Given the description of an element on the screen output the (x, y) to click on. 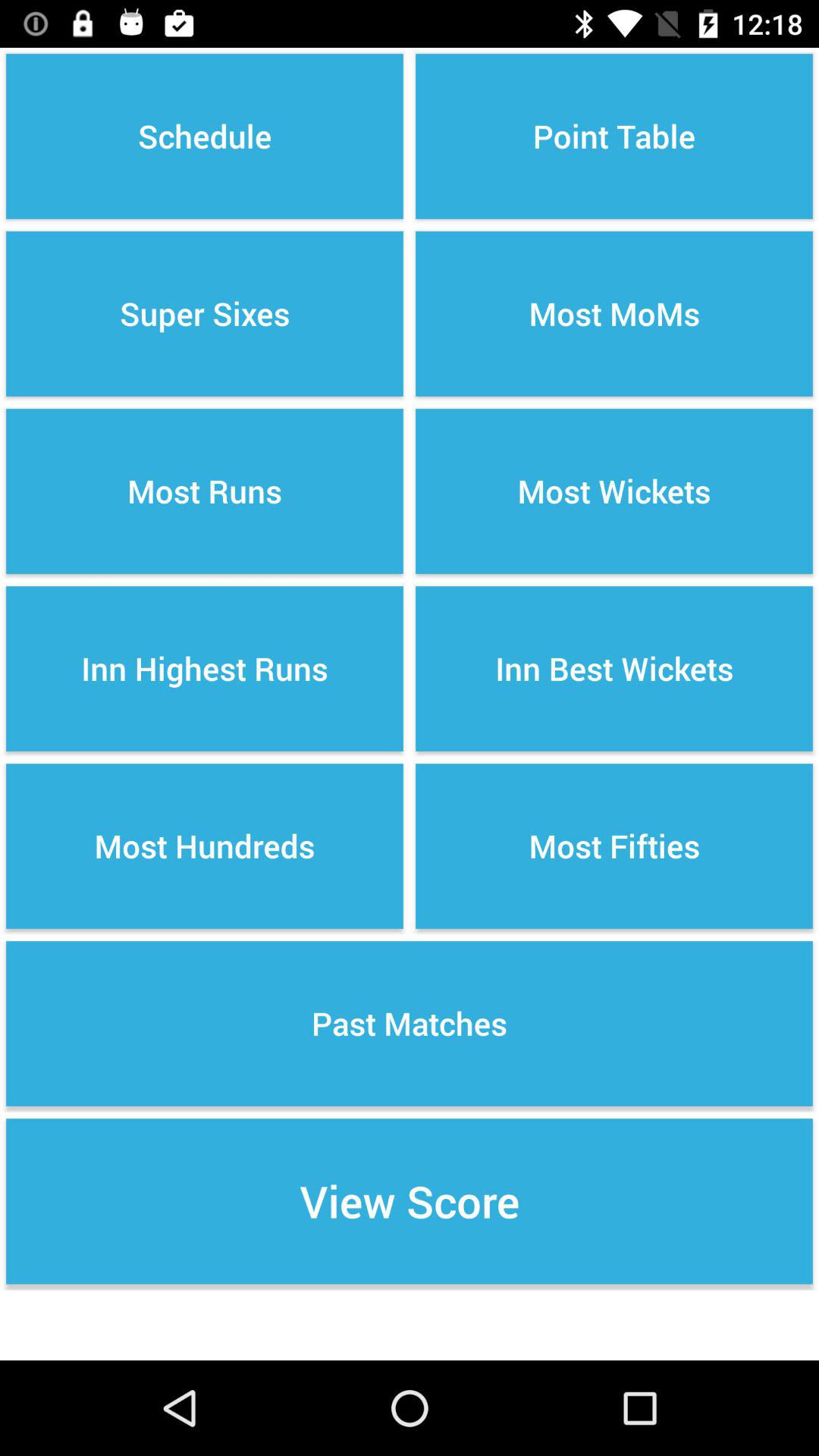
click on most wickets (614, 491)
click om most hundreds (204, 845)
click on inn highest runs (204, 668)
click on view score (409, 1201)
click on the past matches option (409, 1023)
click on the point table option (614, 136)
